Given the description of an element on the screen output the (x, y) to click on. 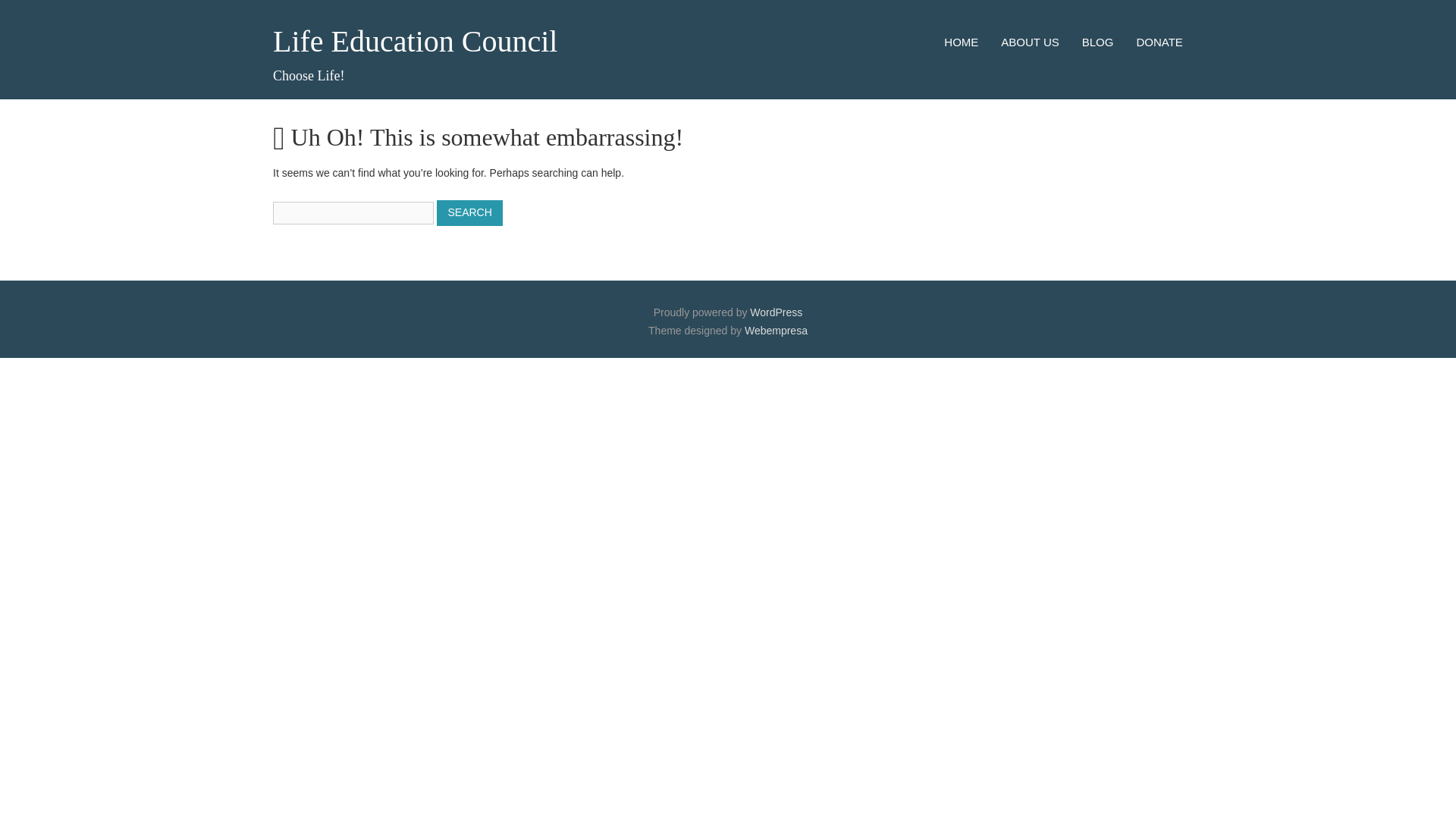
Semantic Personal Publishing Platform (775, 312)
Search (469, 212)
Life Education Council (415, 41)
HOME (960, 42)
Webempresa (776, 330)
WordPress (775, 312)
Life Education Council (415, 41)
DONATE (1158, 42)
Skip to content (961, 35)
Skip to content (961, 35)
Search (469, 212)
ABOUT US (1029, 42)
BLOG (1097, 42)
